Given the description of an element on the screen output the (x, y) to click on. 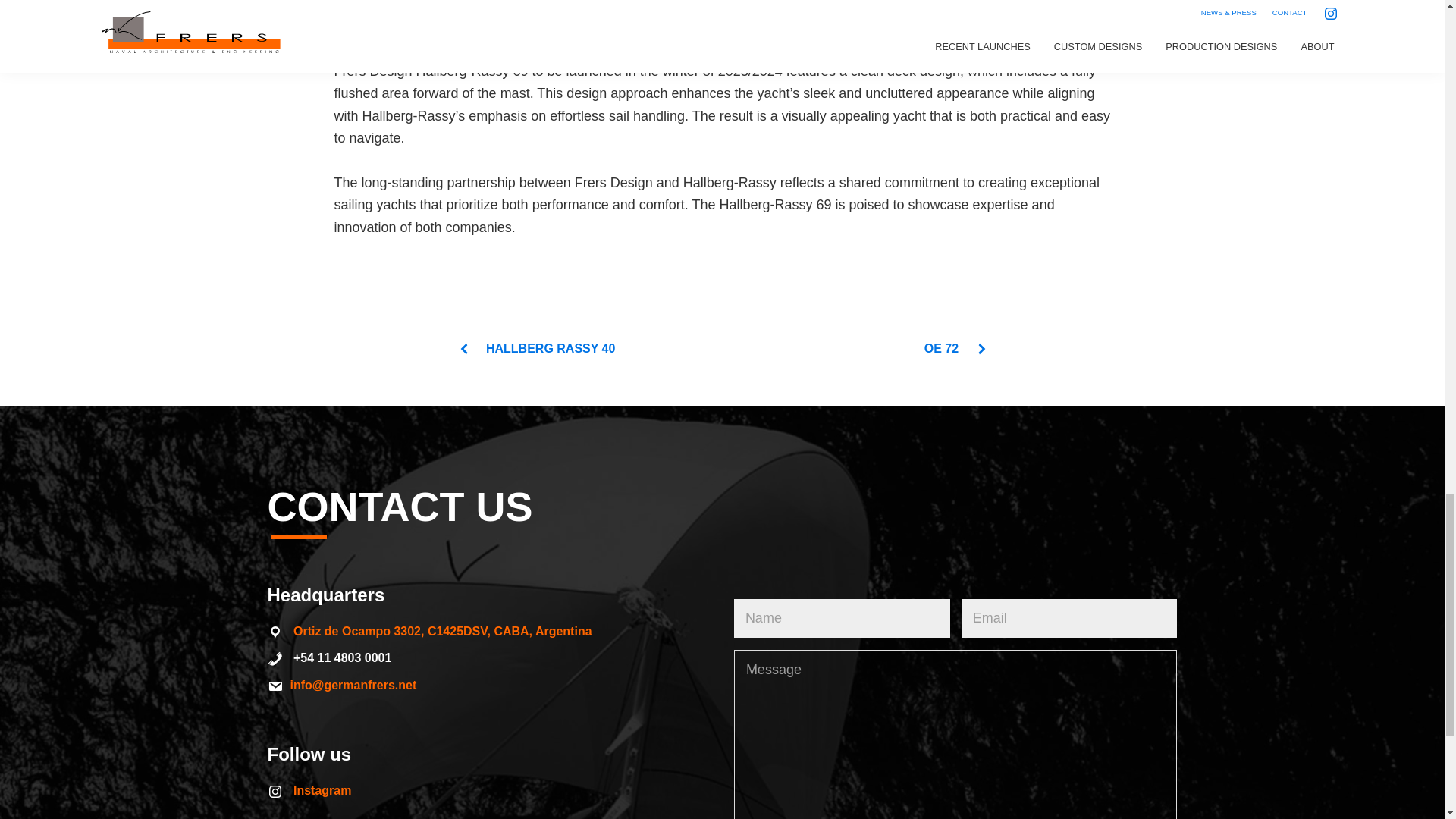
Instagram (322, 789)
HALLBERG RASSY 40 (536, 348)
OE 72 (956, 348)
Ortiz de Ocampo 3302, C1425DSV, CABA, Argentina (443, 631)
